Given the description of an element on the screen output the (x, y) to click on. 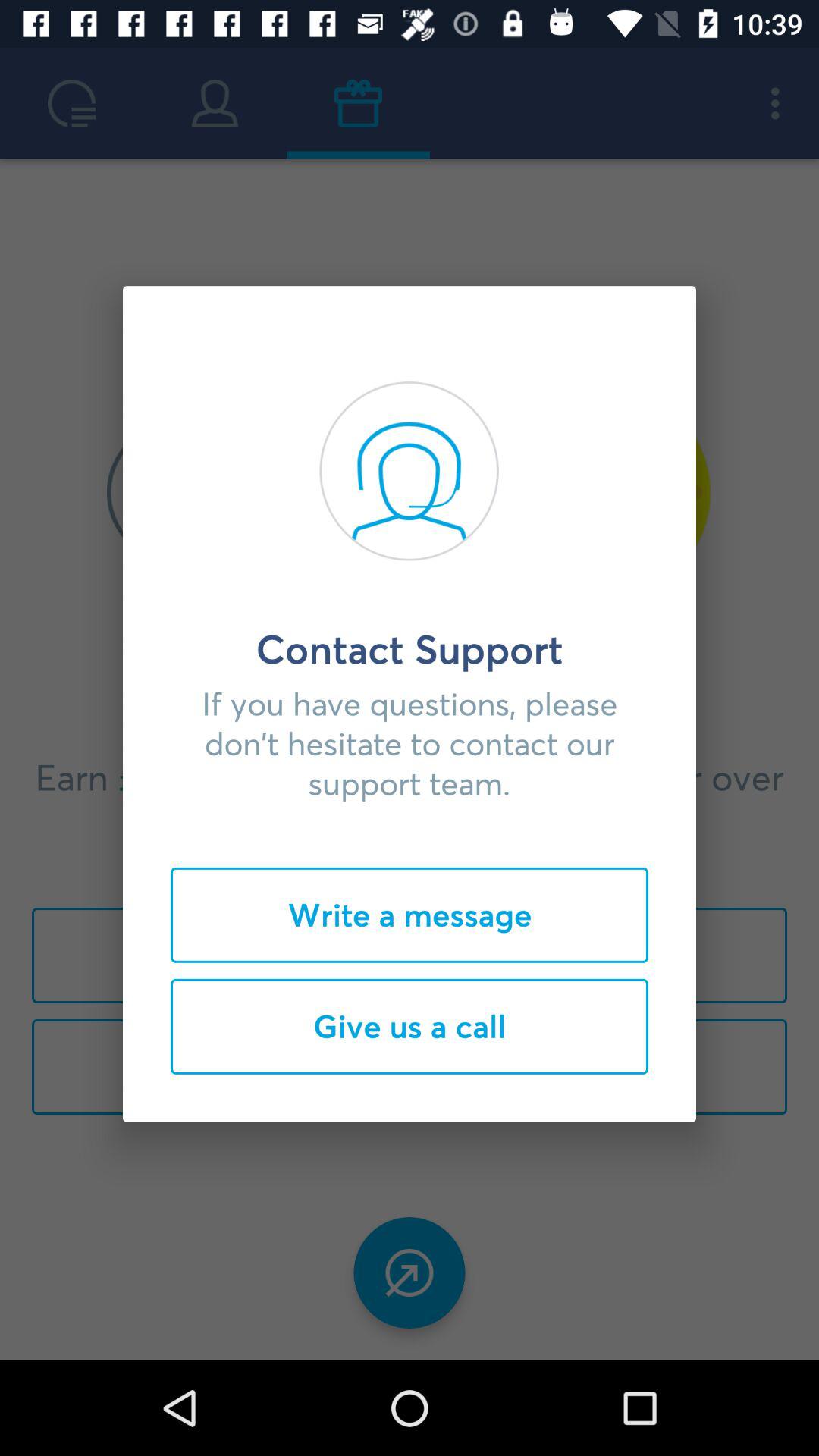
turn on write a message item (409, 914)
